Given the description of an element on the screen output the (x, y) to click on. 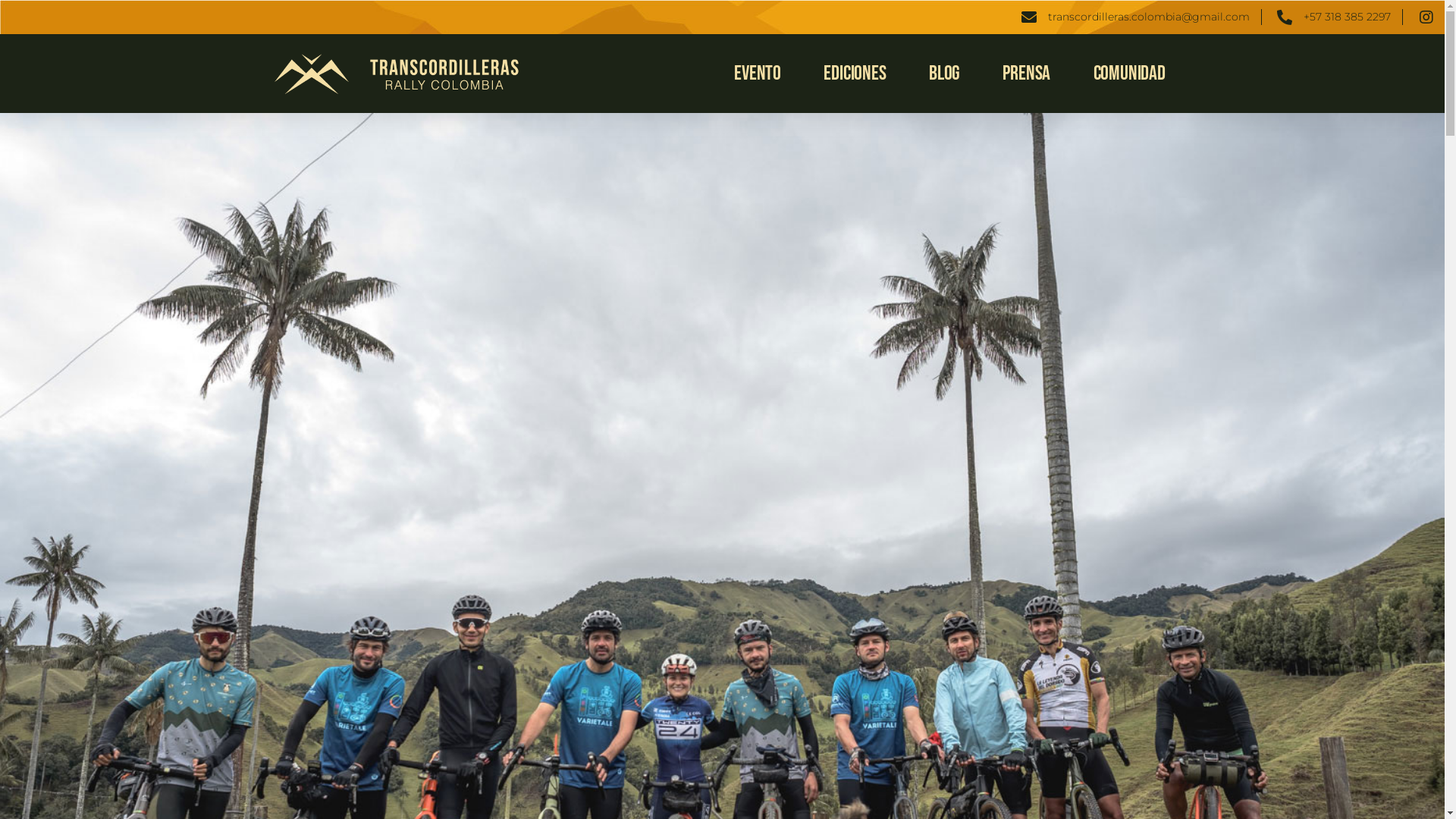
Comunidad Element type: text (1129, 73)
Blog Element type: text (944, 73)
Ediciones Element type: text (855, 73)
Prensa Element type: text (1026, 73)
Evento Element type: text (756, 73)
